Given the description of an element on the screen output the (x, y) to click on. 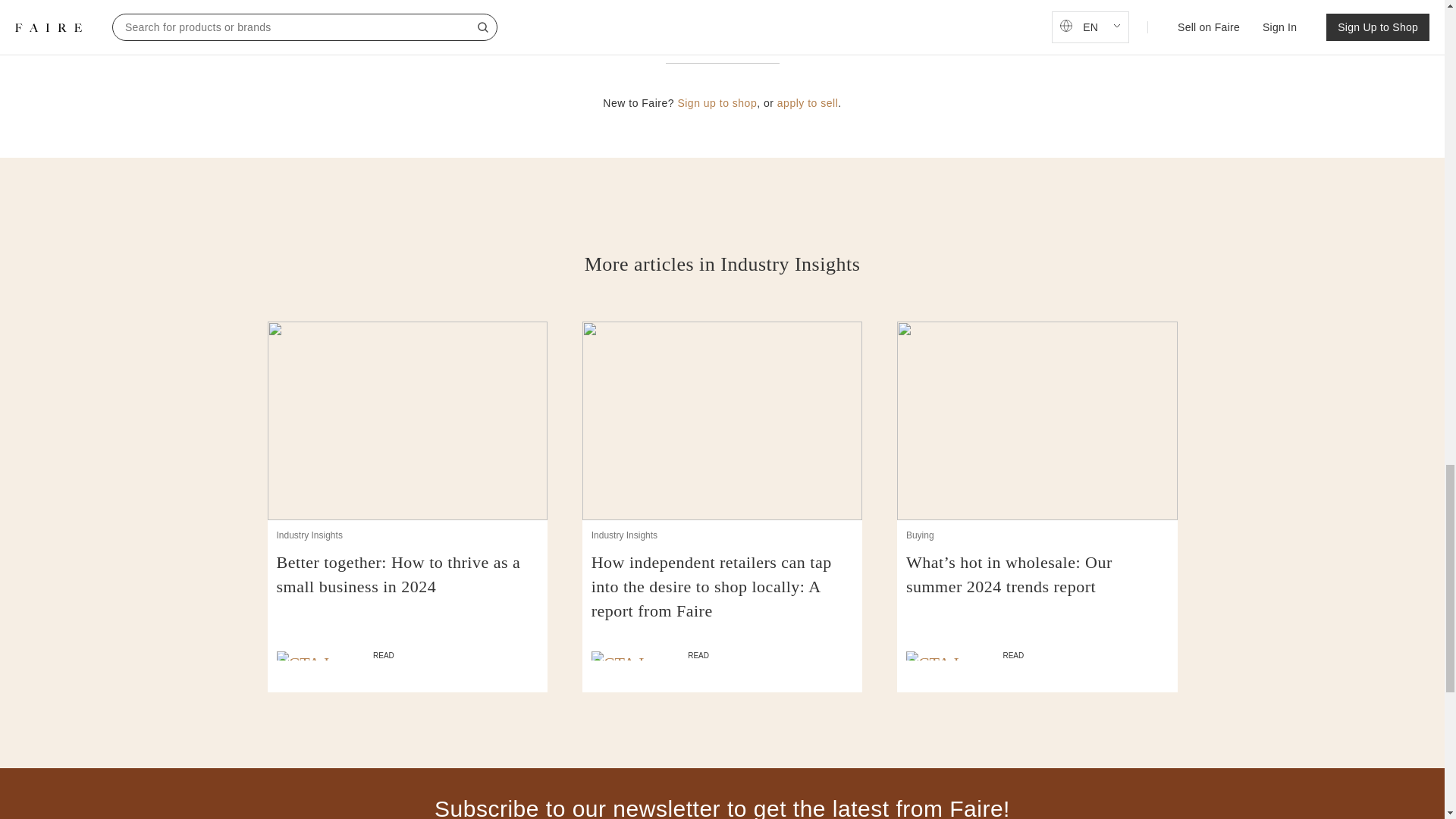
READ (407, 656)
Industry Insights (309, 534)
READ (722, 656)
Industry Insights (624, 534)
Better together: How to thrive as a small business in 2024 (407, 586)
apply to sell (807, 102)
Better together: How to thrive as a small business in 2024 (407, 586)
Buying (919, 534)
READ (1037, 656)
Sign up to shop (717, 102)
